Given the description of an element on the screen output the (x, y) to click on. 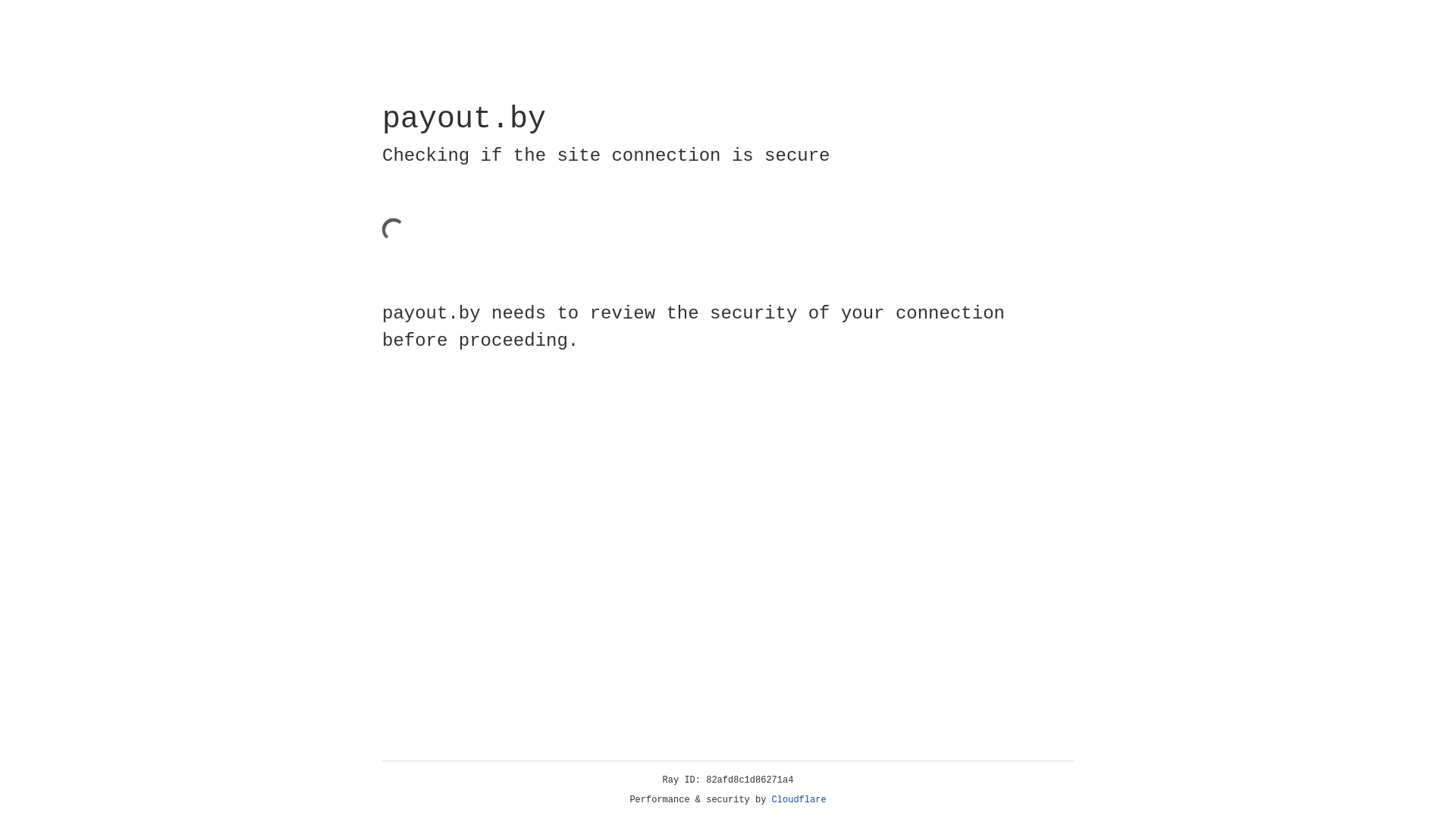
Cloudflare Element type: text (798, 799)
